Given the description of an element on the screen output the (x, y) to click on. 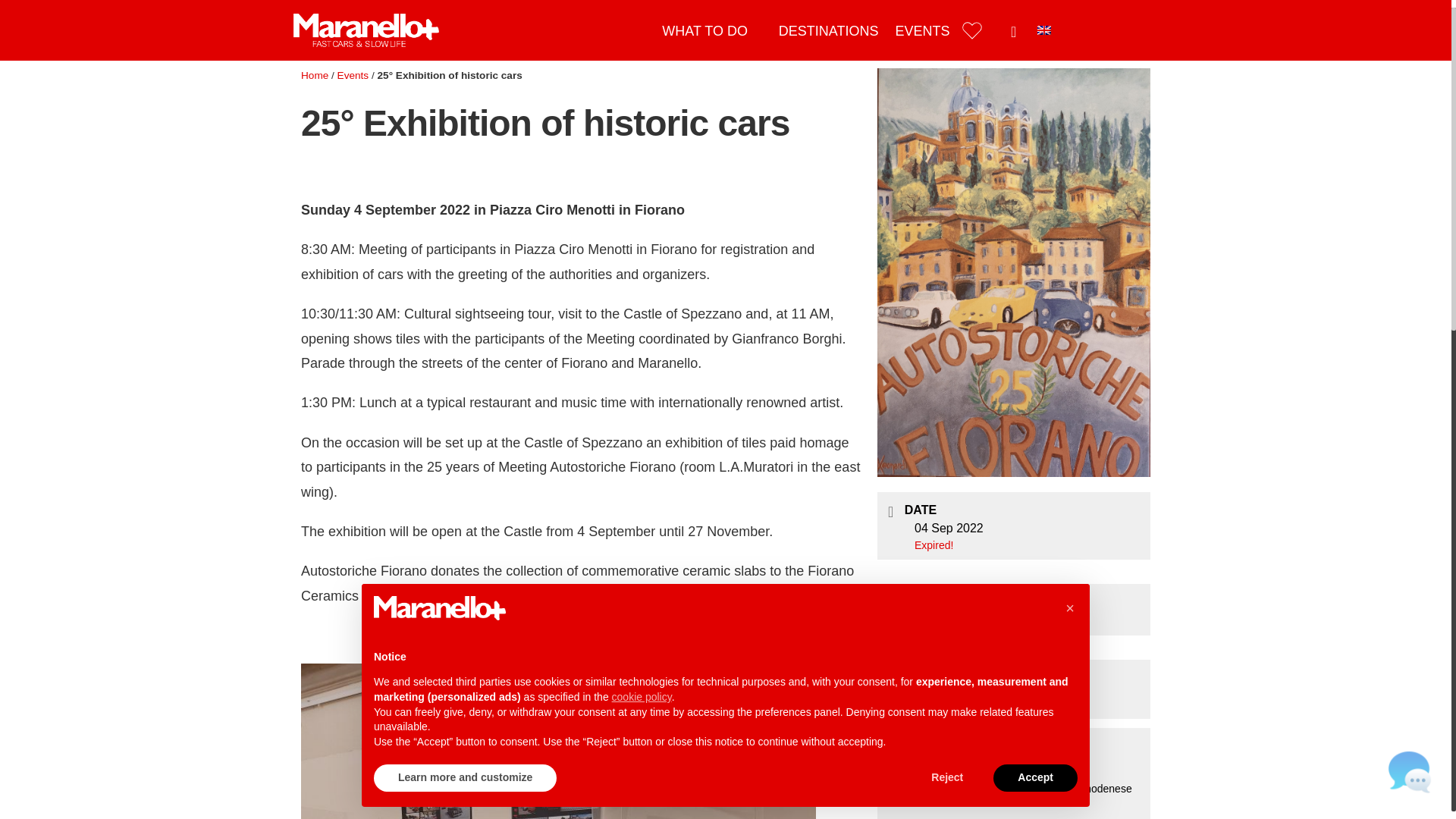
DESTINATIONS (828, 30)
EVENTS (922, 30)
Chat (1409, 772)
Events (353, 75)
Home (315, 75)
WHAT TO DO (704, 30)
